Given the description of an element on the screen output the (x, y) to click on. 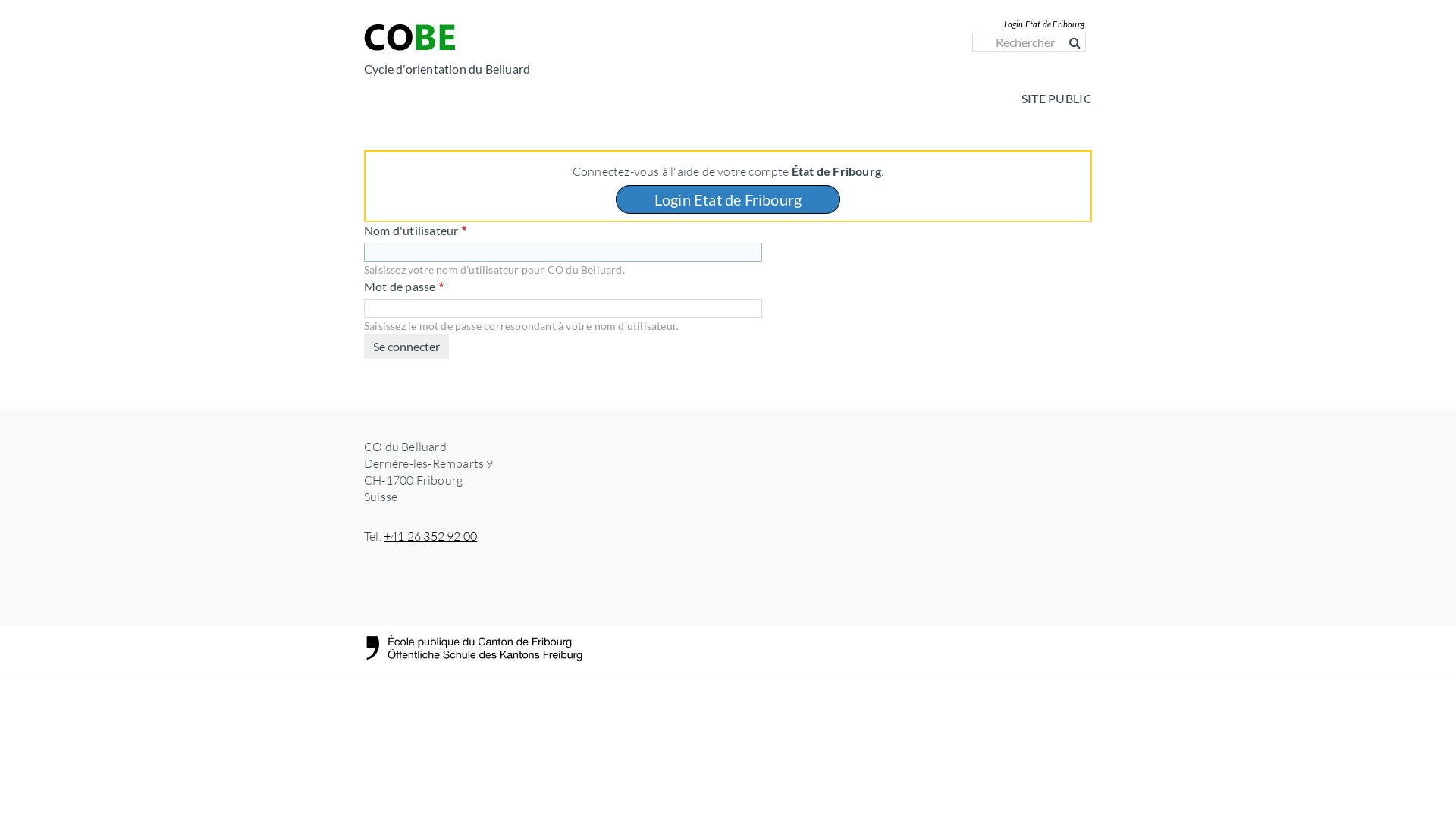
+41 26 352 92 00 Element type: text (429, 535)
Aller au contenu principal Element type: text (0, 0)
Se connecter Element type: text (406, 346)
Login Etat de Fribourg Element type: text (1044, 23)
Apply Element type: text (24, 11)
Login Etat de Fribourg Element type: text (727, 199)
SITE PUBLIC Element type: text (1056, 98)
